Given the description of an element on the screen output the (x, y) to click on. 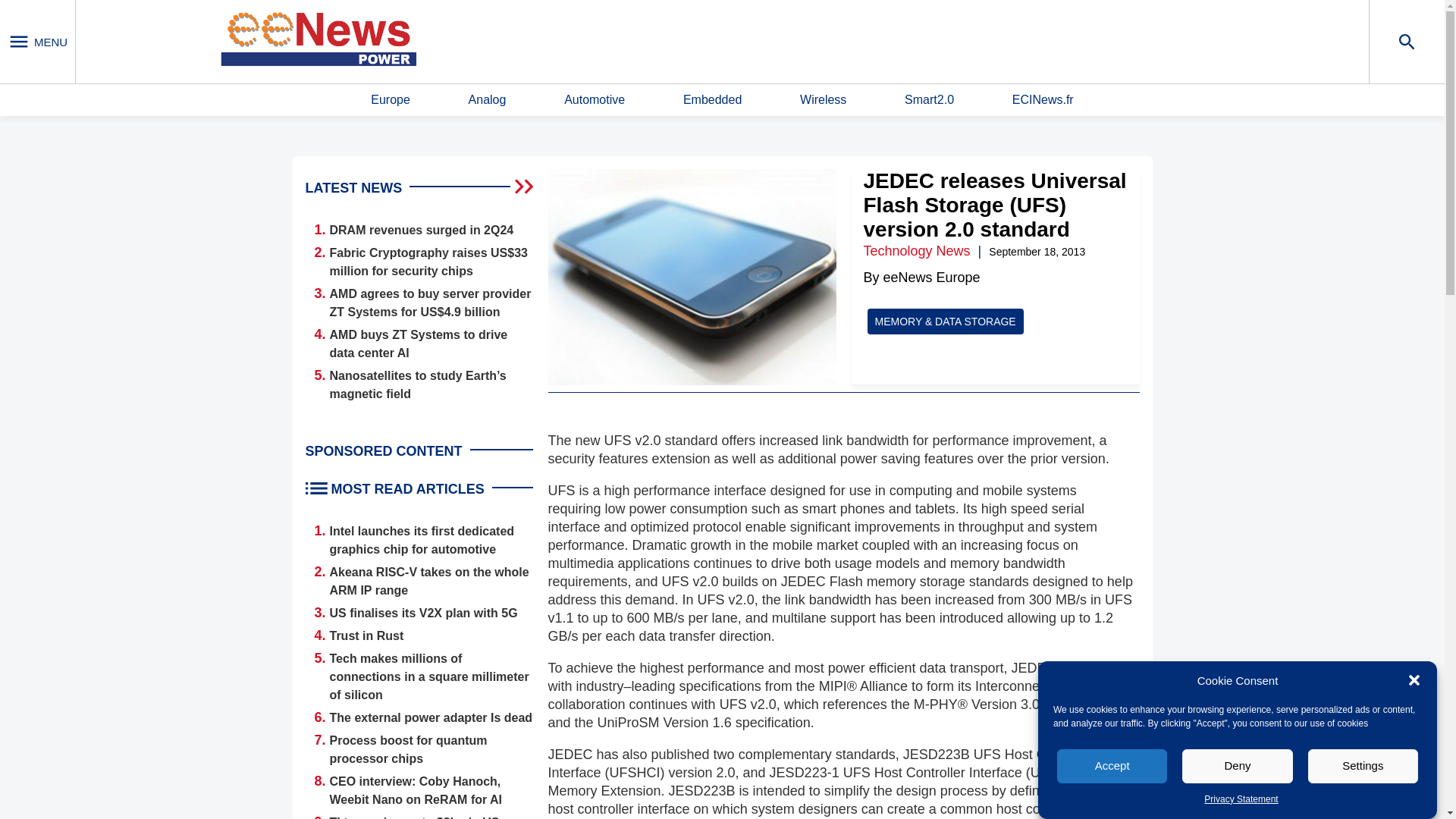
Wireless (822, 99)
Embedded (711, 99)
Europe (390, 99)
Analog (487, 99)
Smart2.0 (928, 99)
Automotive (594, 99)
ECINews.fr (1042, 99)
